Given the description of an element on the screen output the (x, y) to click on. 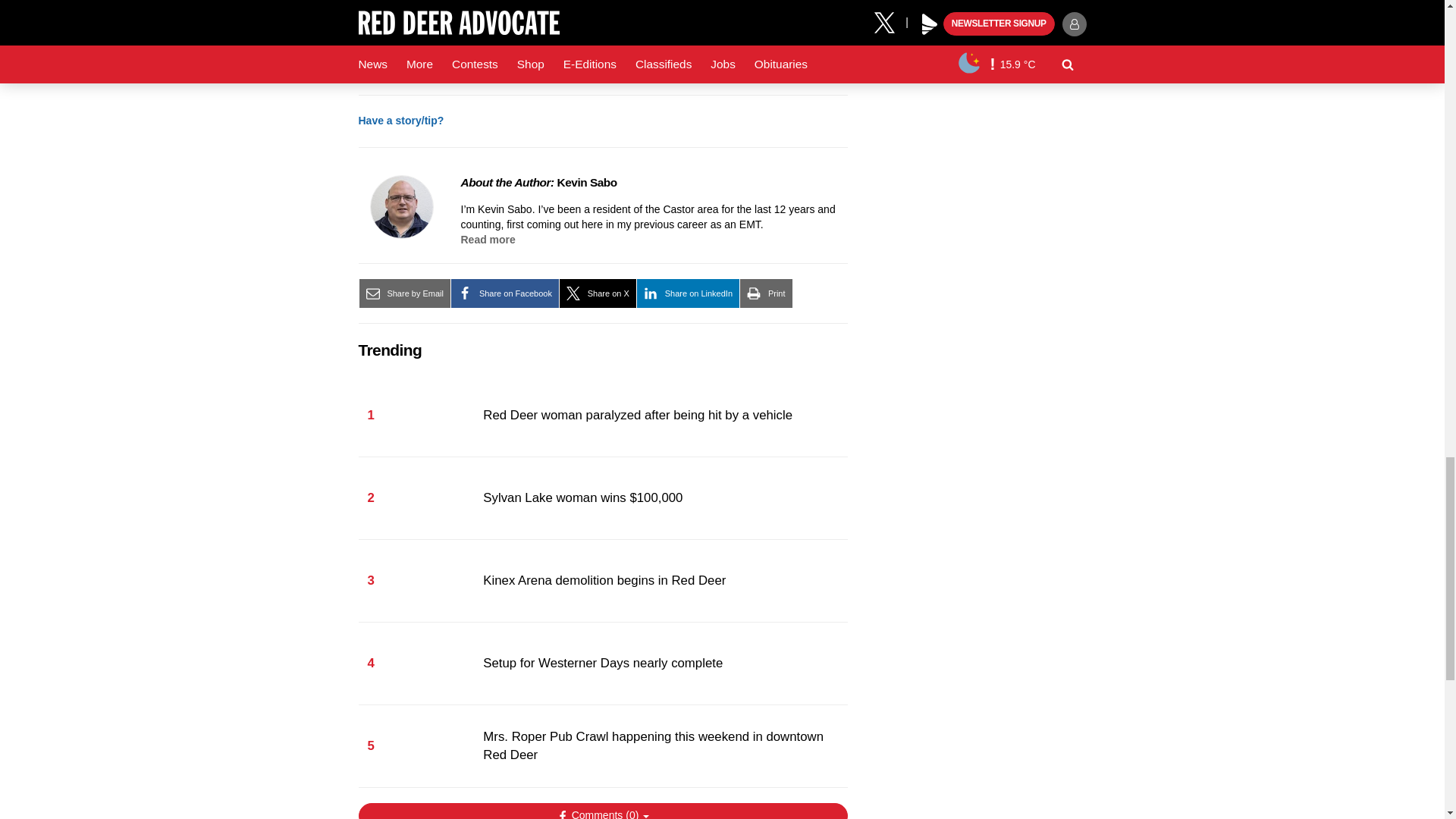
Show Comments (602, 811)
